Given the description of an element on the screen output the (x, y) to click on. 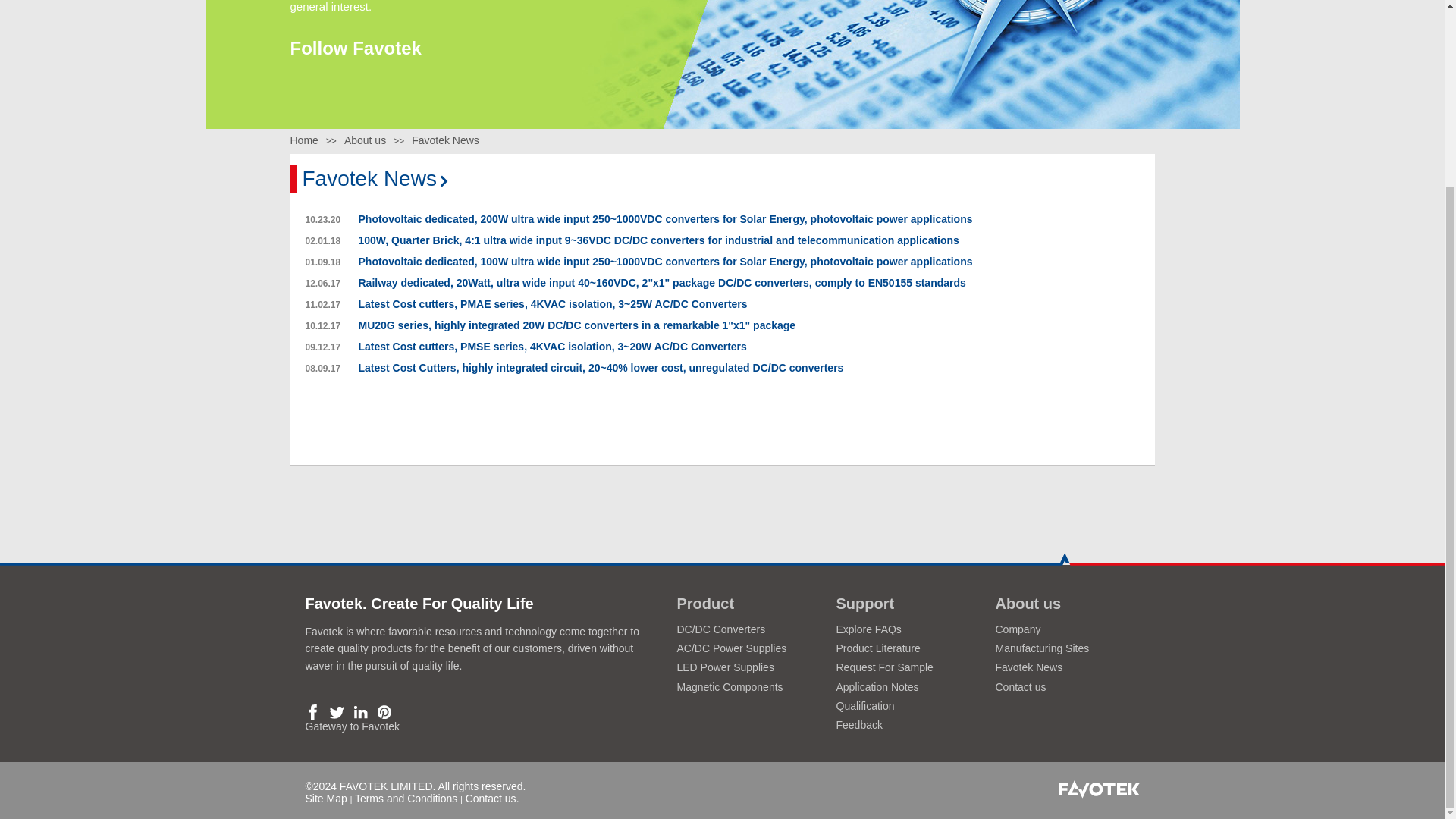
About us (364, 140)
Product (705, 603)
Terms and Conditions (406, 798)
Application Notes (876, 686)
Manufacturing Sites (1041, 648)
About us (1027, 603)
Magnetic Components (730, 686)
Feedback (858, 725)
Qualification (864, 705)
Request For Sample (884, 666)
Company (1017, 629)
Support (864, 603)
Explore FAQs (868, 629)
LED Power Supplies (725, 666)
Product Literature (877, 648)
